Given the description of an element on the screen output the (x, y) to click on. 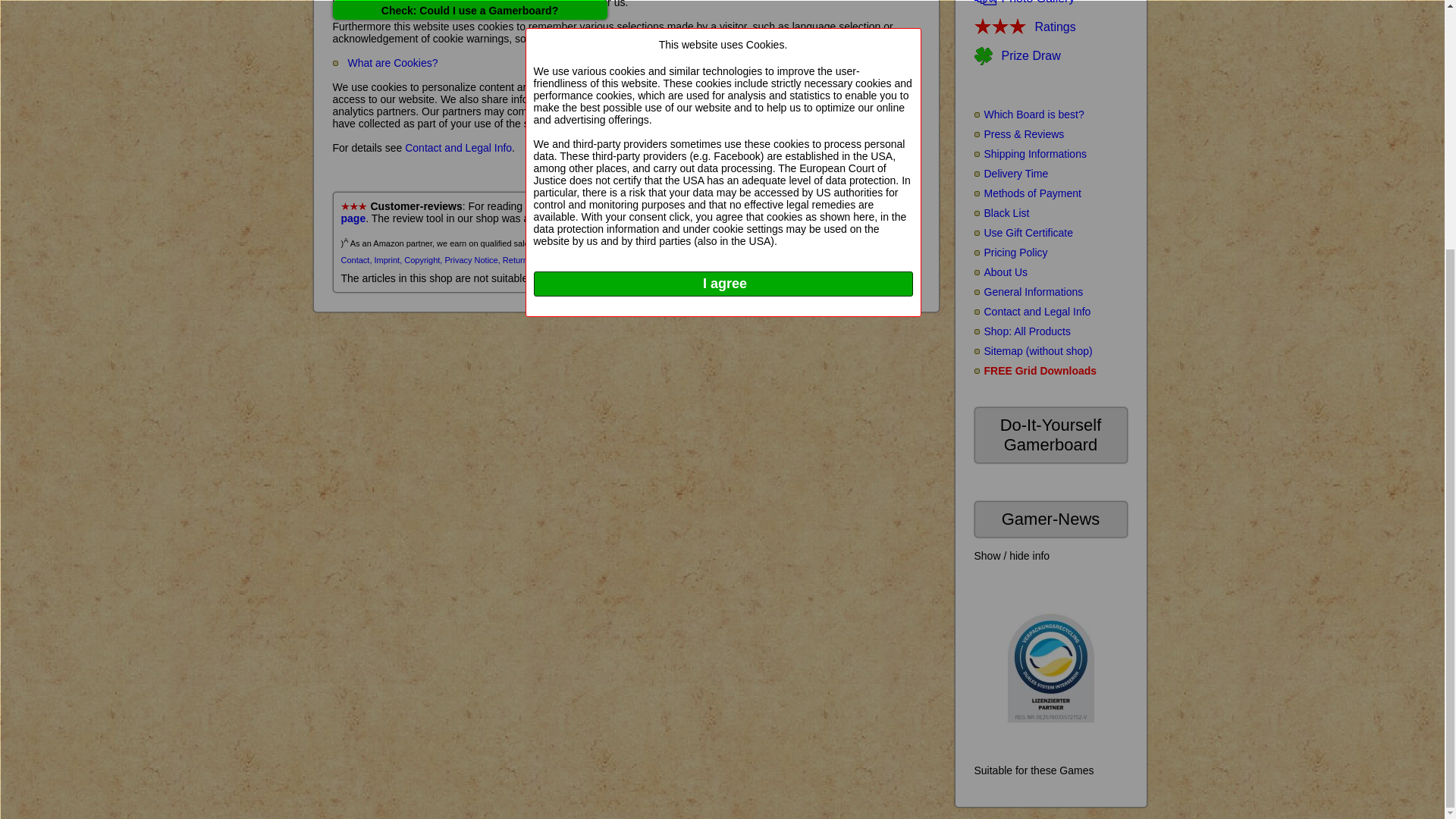
Delivery Time (1011, 173)
Methods of Payment (1027, 193)
Which Board is best? (1028, 114)
Ratings (1024, 27)
Prize Draw (1016, 56)
Photo Gallery (1024, 6)
Shipping Informations (1030, 153)
